Given the description of an element on the screen output the (x, y) to click on. 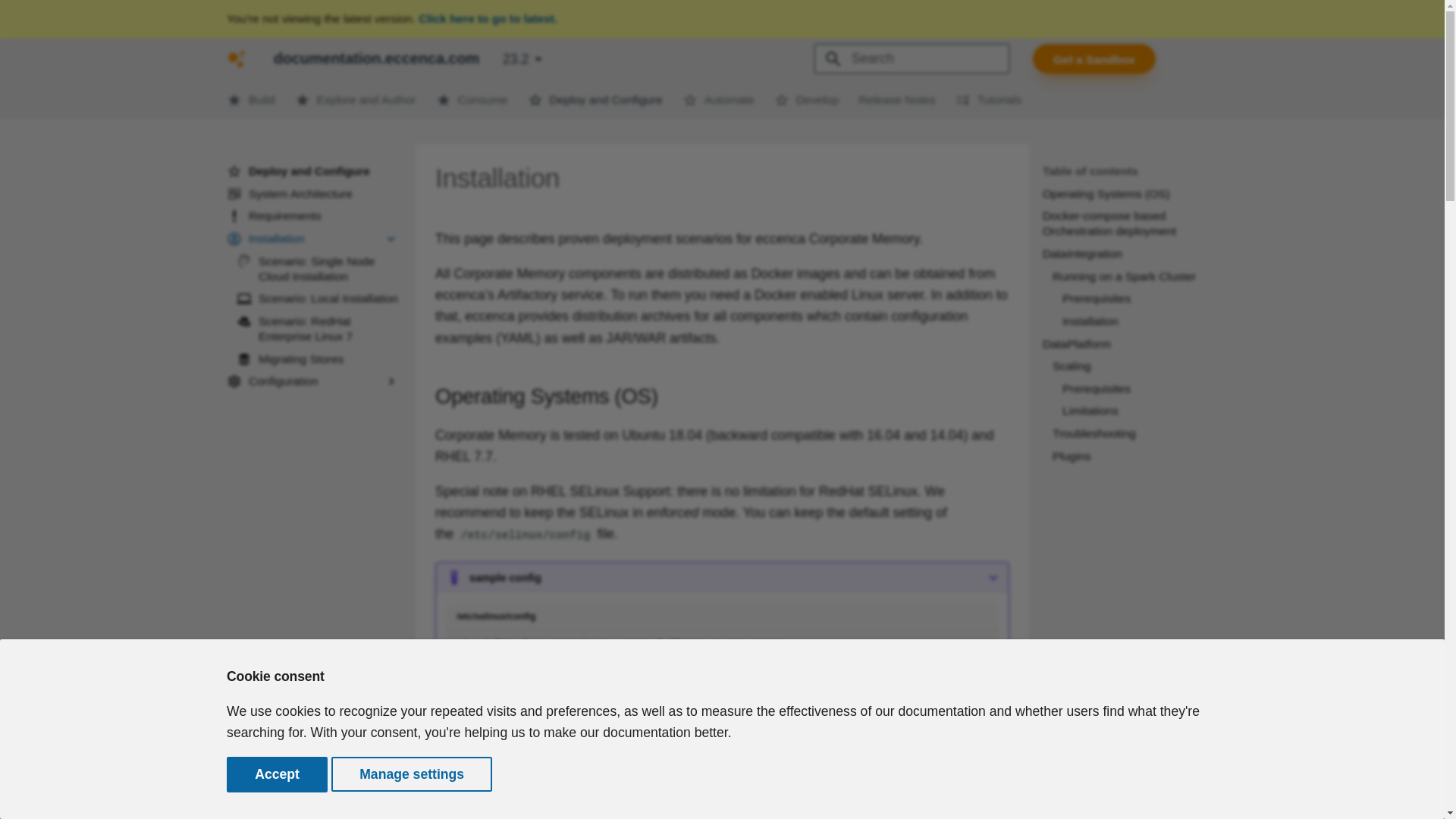
23.2 (521, 59)
Click here to go to latest. (488, 18)
documentation.eccenca.com (236, 58)
Get a Sandbox (1094, 59)
Deploy and Configure (594, 99)
Tutorials (988, 99)
Build (251, 99)
Automate (718, 99)
Consume (471, 99)
Release Notes (896, 99)
Explore and Author (354, 99)
Develop (806, 99)
